Given the description of an element on the screen output the (x, y) to click on. 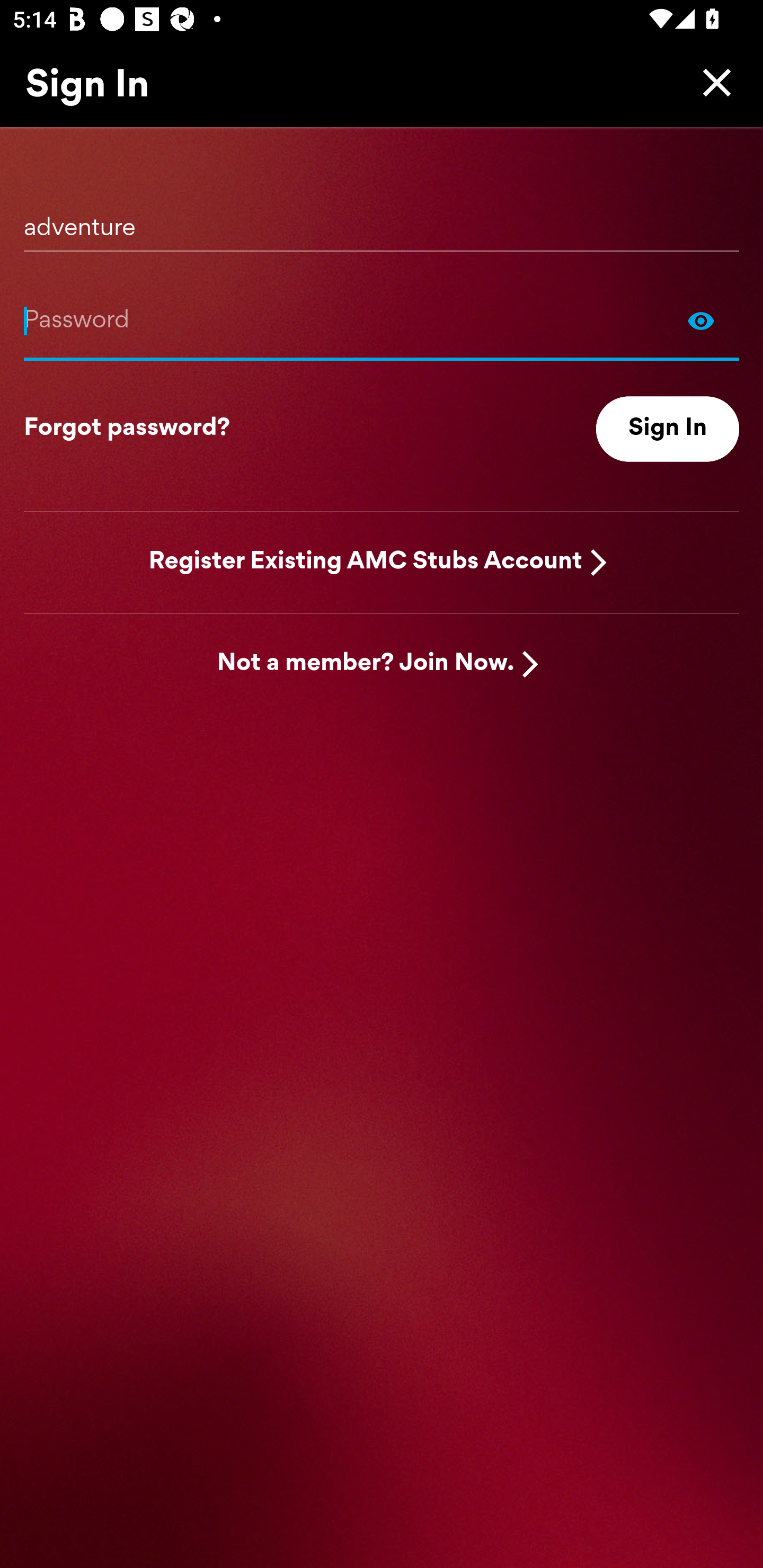
Close (712, 82)
adventure (381, 220)
Show Password (381, 320)
Show Password (701, 320)
Forgot password? (126, 428)
Sign In (667, 428)
Register Existing AMC Stubs Account (365, 561)
Not a member? Join Now. (365, 663)
